Given the description of an element on the screen output the (x, y) to click on. 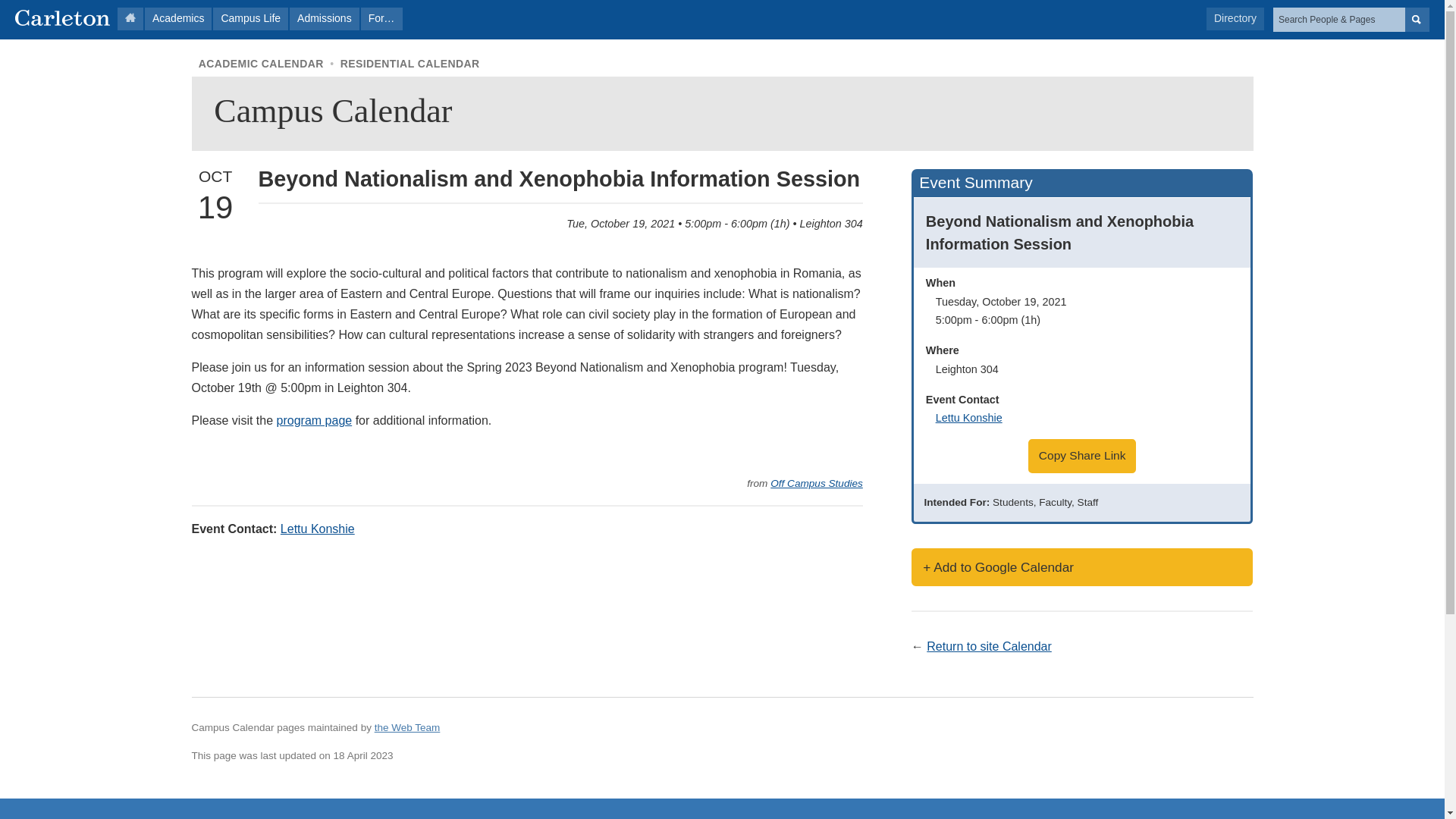
Copy Share Link (1082, 455)
Campus Life (250, 18)
the Web Team (407, 727)
Academics (177, 18)
Off Campus Studies (816, 482)
Lettu Konshie (318, 528)
Lettu Konshie (969, 417)
ACADEMIC CALENDAR (260, 63)
RESIDENTIAL CALENDAR (410, 63)
Directory (1235, 18)
